Given the description of an element on the screen output the (x, y) to click on. 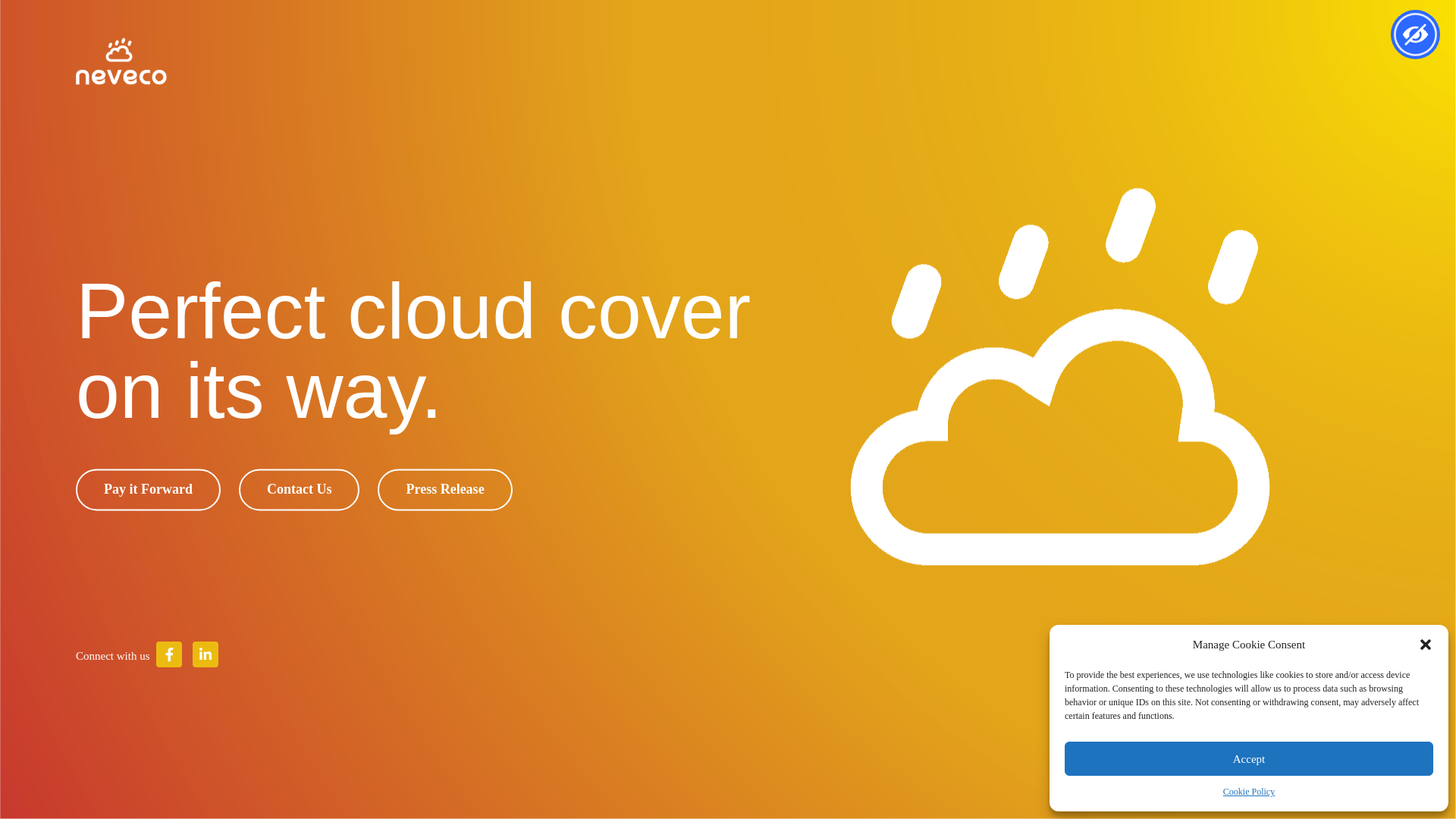
Press Release Element type: text (444, 490)
Contact Us Element type: text (299, 490)
Accept Element type: text (1248, 758)
Pay it Forward Element type: text (147, 490)
Cookie Policy Element type: text (1248, 791)
